Given the description of an element on the screen output the (x, y) to click on. 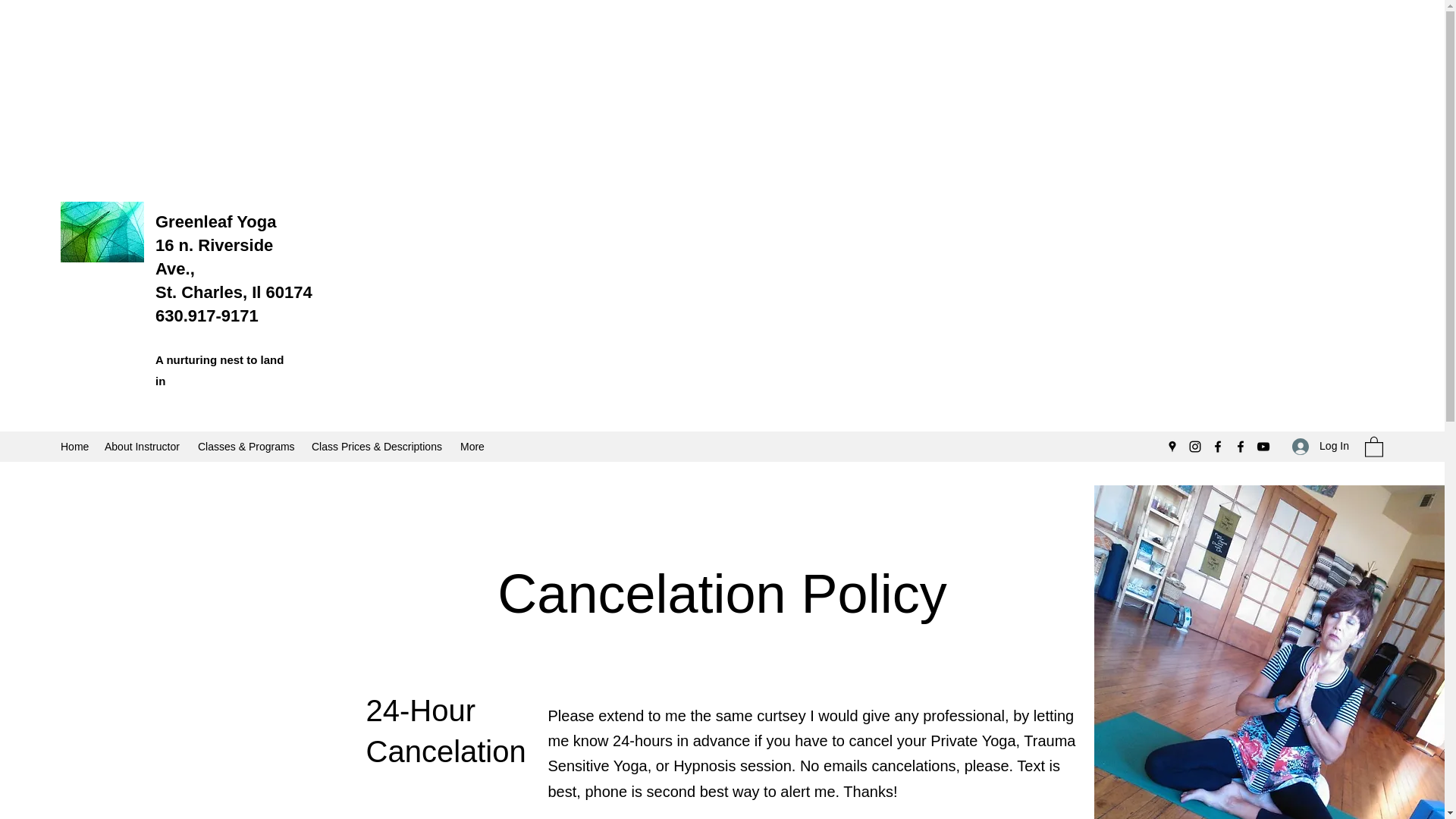
Log In (1320, 446)
Home (74, 445)
About Instructor (143, 445)
